Given the description of an element on the screen output the (x, y) to click on. 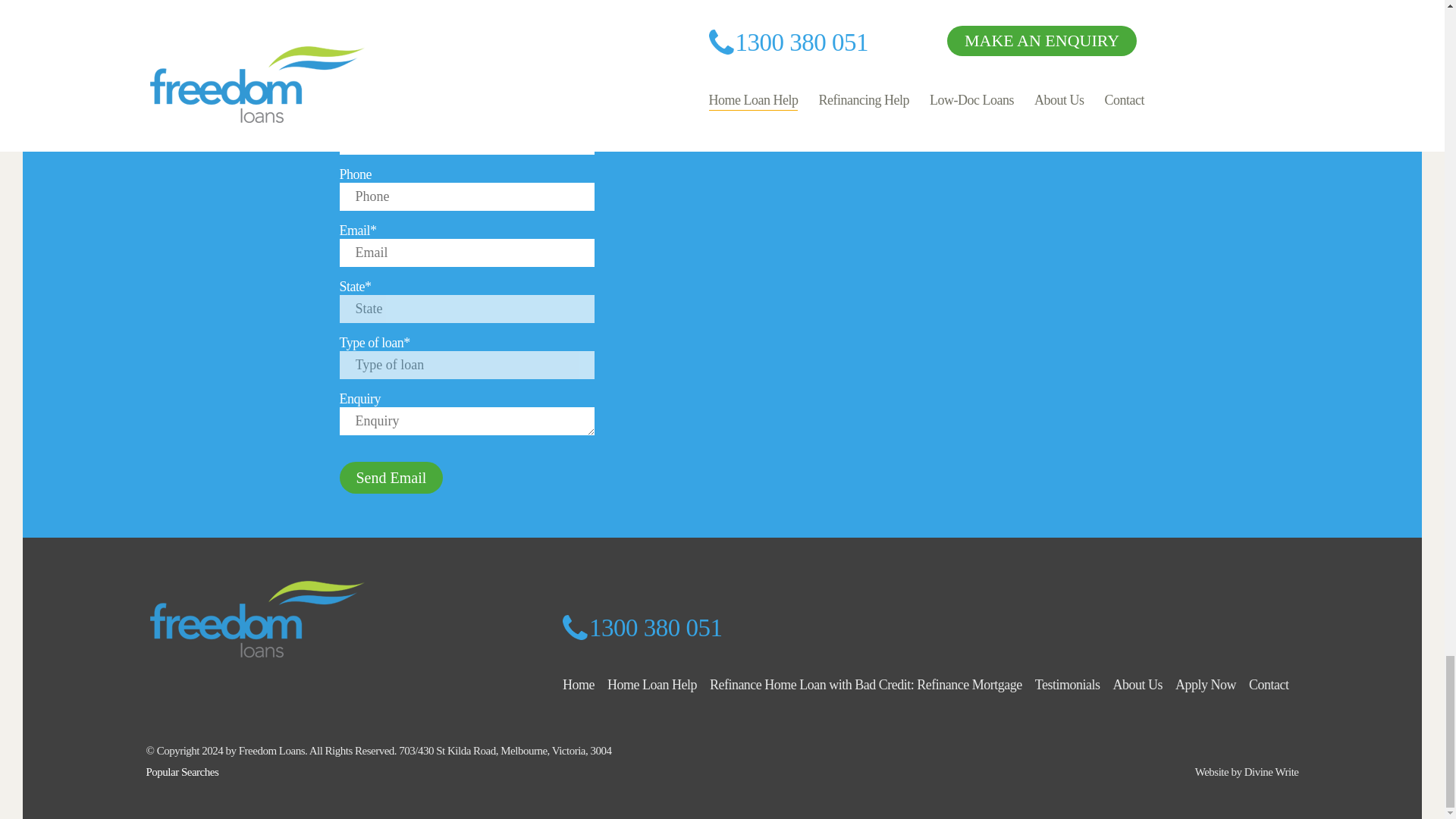
Send Email (391, 477)
